Given the description of an element on the screen output the (x, y) to click on. 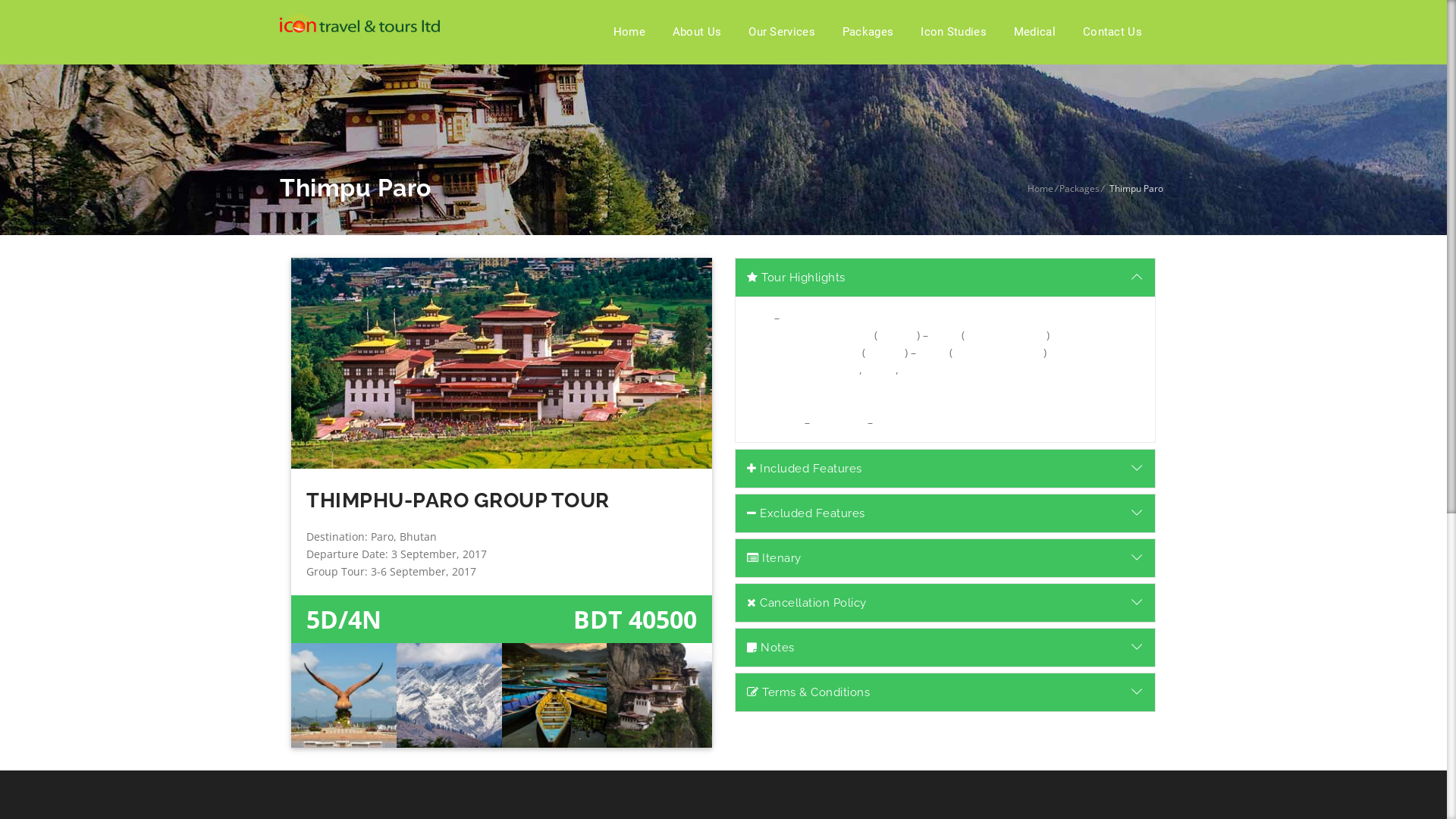
Excluded Features Element type: text (944, 513)
Included Features Element type: text (944, 468)
Icon Studies Element type: text (953, 32)
Medical Element type: text (1034, 32)
Contact Us Element type: text (1112, 32)
Home Element type: text (628, 32)
Home Element type: text (1040, 188)
Packages Element type: text (867, 32)
About Us Element type: text (696, 32)
Itenary Element type: text (944, 558)
Cancellation Policy Element type: text (944, 602)
Terms & Conditions Element type: text (944, 692)
Packages Element type: text (1079, 188)
Our Services Element type: text (781, 32)
Notes Element type: text (944, 647)
Tour Highlights Element type: text (944, 277)
Search Element type: text (1012, 408)
